Given the description of an element on the screen output the (x, y) to click on. 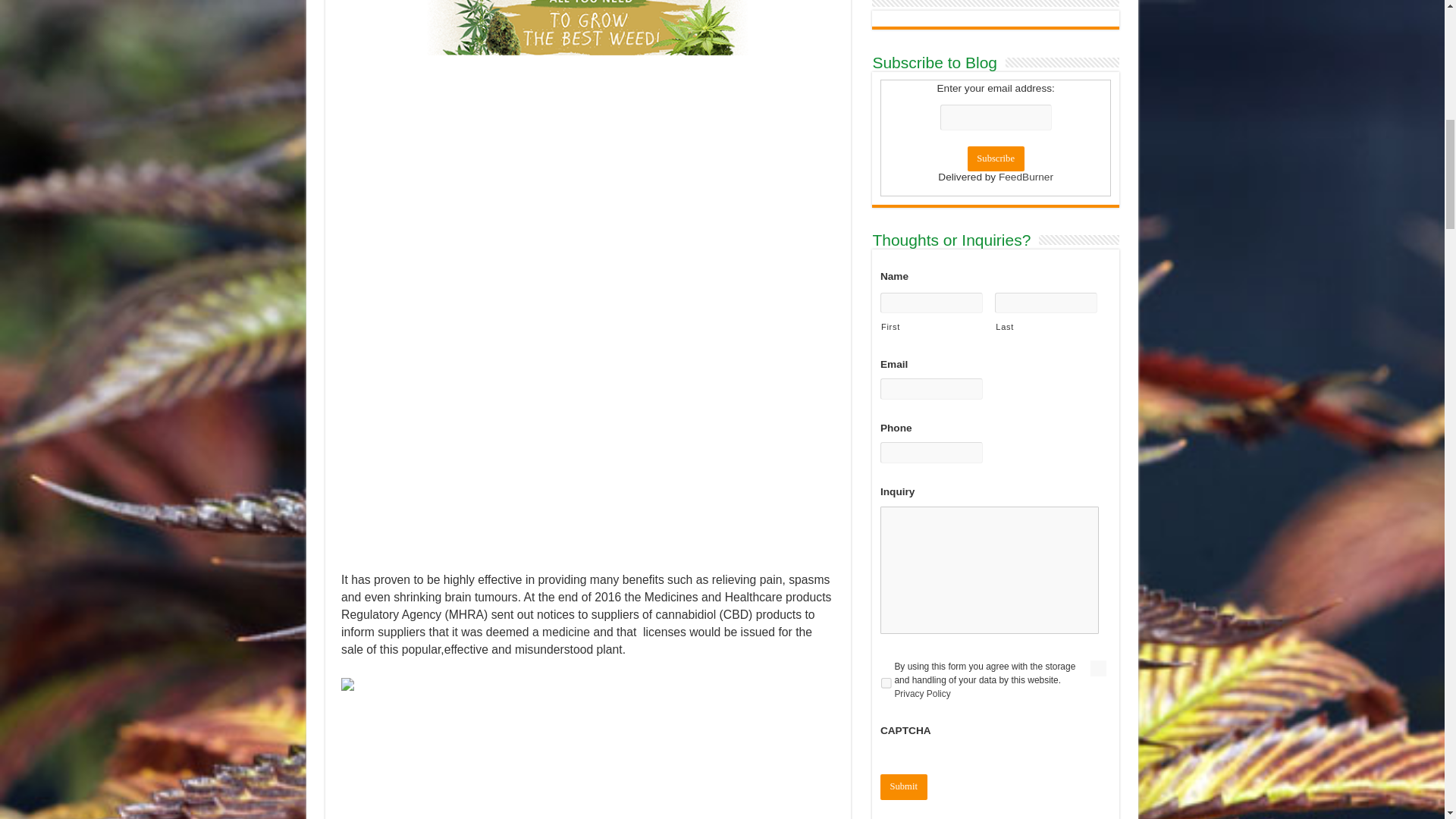
true (844, 611)
Subscribe (948, 111)
Submit (860, 710)
